Given the description of an element on the screen output the (x, y) to click on. 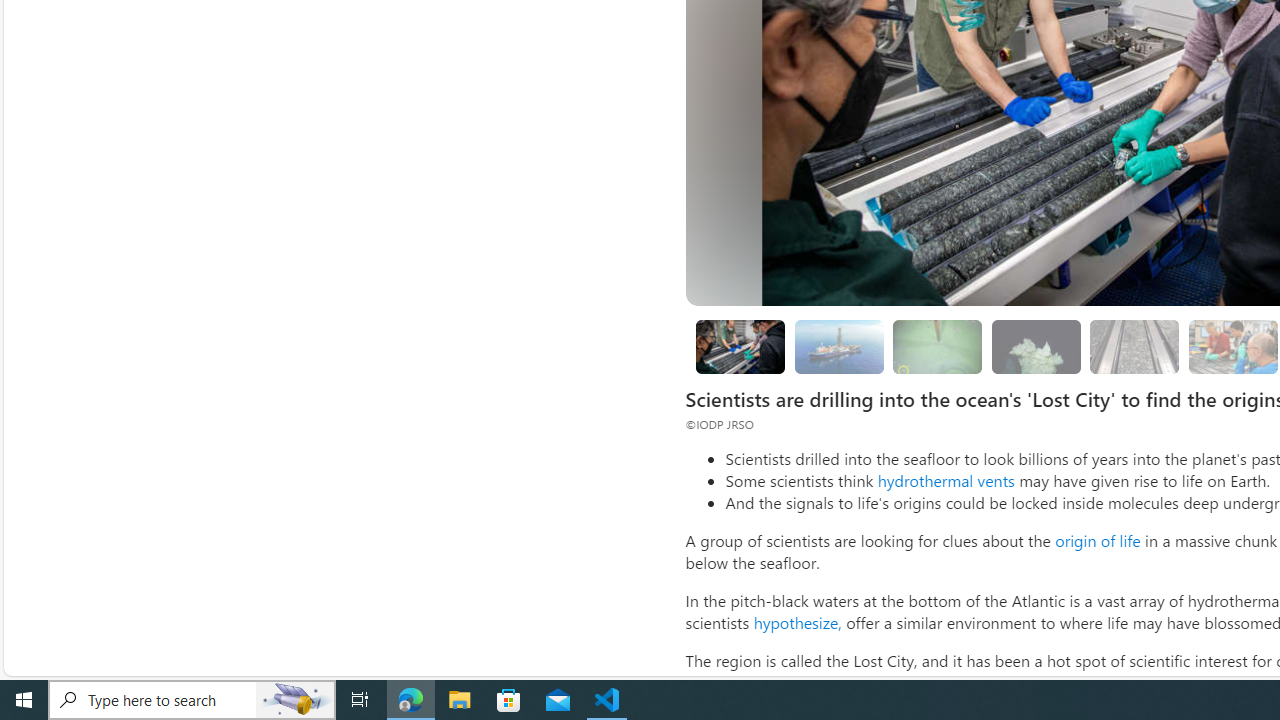
The Lost City could hold clues to the origin of life. (1035, 346)
The Lost City could hold clues to the origin of life. (1035, 346)
Looking for evidence of oxygen-free life (1232, 346)
origin of life (1097, 539)
hypothesize, (797, 622)
Class: progress (1134, 343)
hydrothermal vents (945, 480)
